Given the description of an element on the screen output the (x, y) to click on. 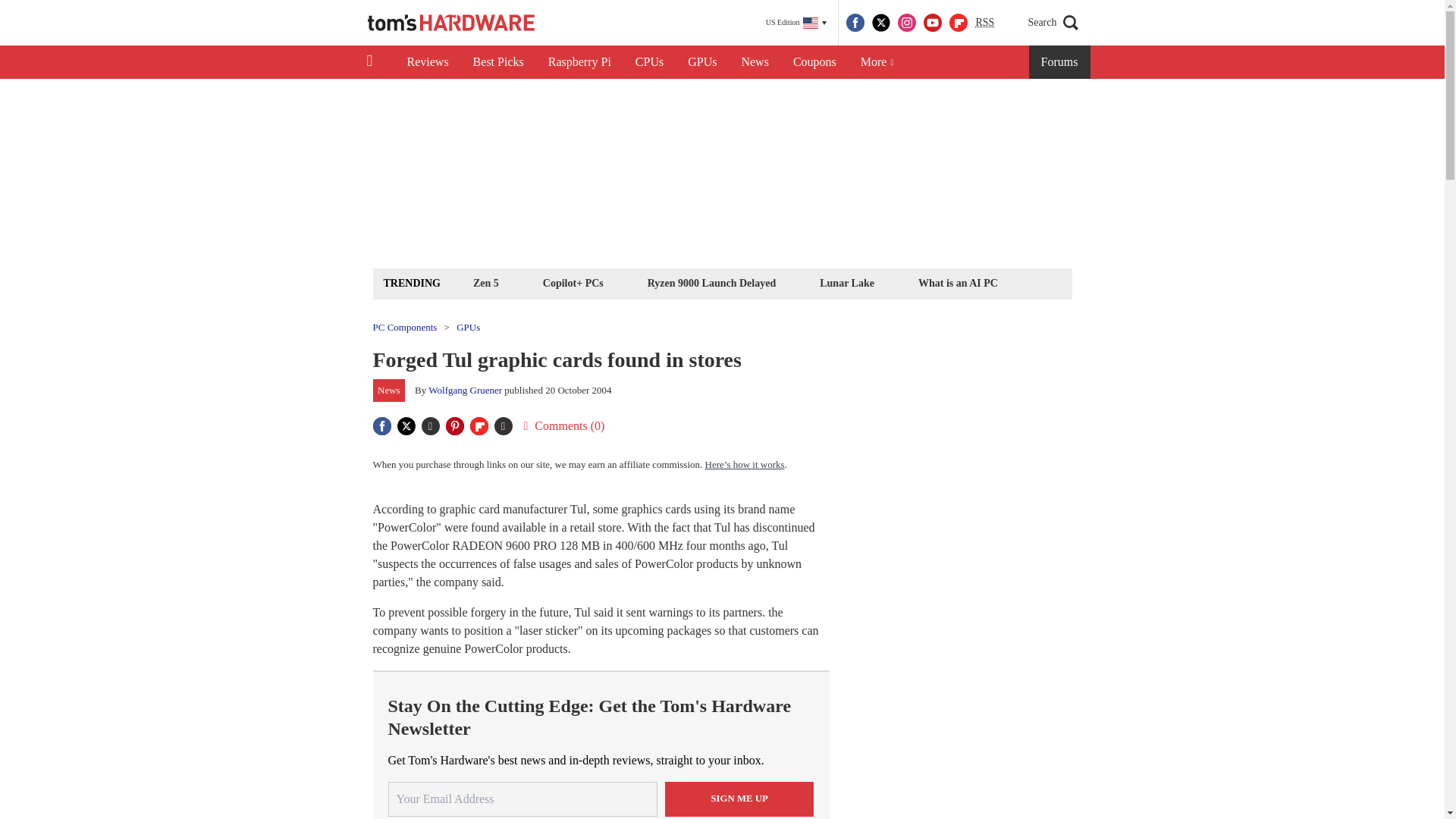
US Edition (796, 22)
Reviews (427, 61)
RSS (984, 22)
CPUs (649, 61)
Best Picks (498, 61)
Forums (1059, 61)
Really Simple Syndication (984, 21)
Raspberry Pi (579, 61)
Sign me up (739, 798)
News (754, 61)
Zen 5 (485, 282)
Coupons (814, 61)
GPUs (702, 61)
